Given the description of an element on the screen output the (x, y) to click on. 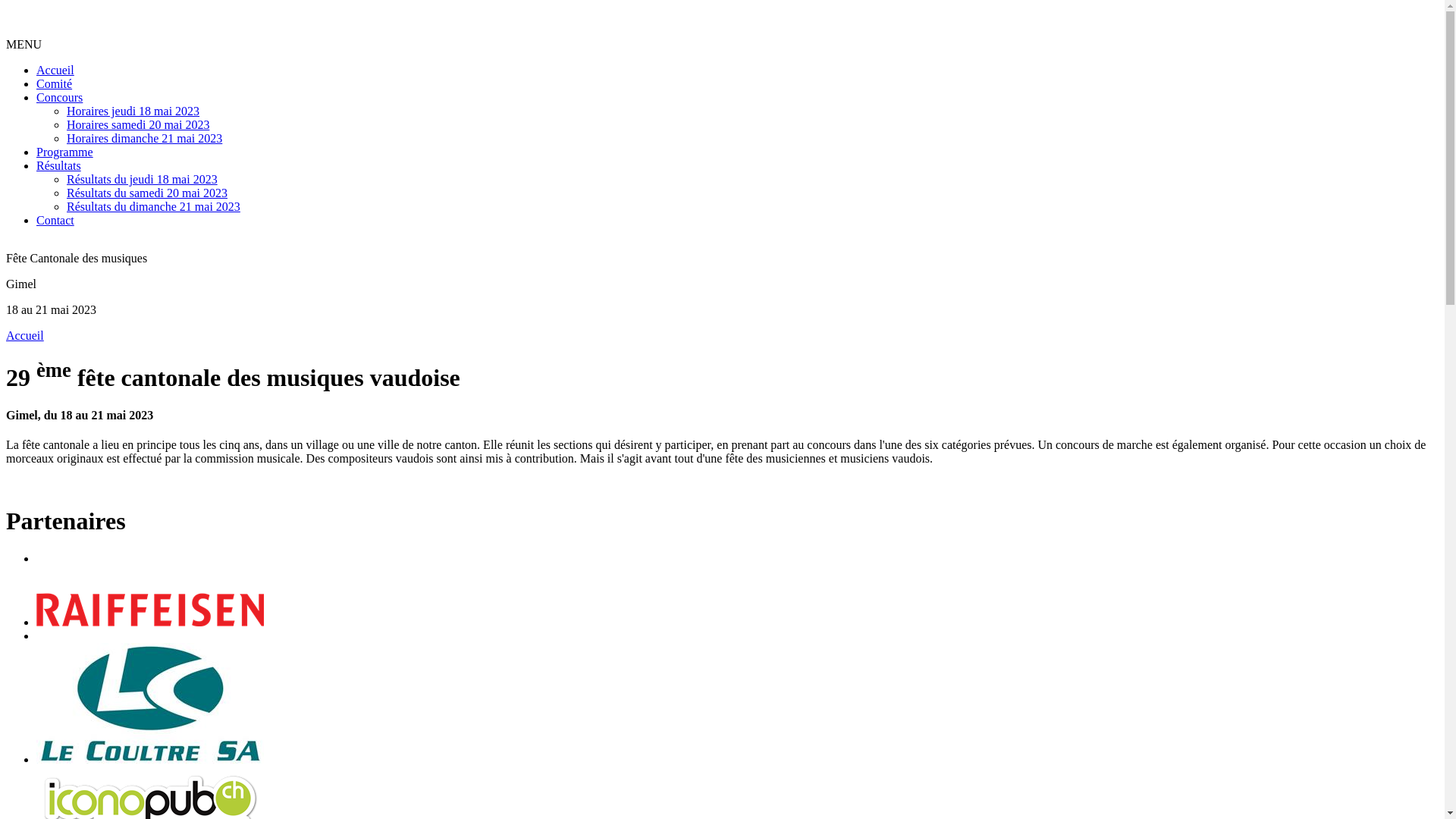
Concours Element type: text (59, 97)
0 Element type: text (737, 704)
Accueil Element type: text (55, 69)
Contact Element type: text (55, 219)
Programme Element type: text (64, 151)
0 Element type: text (737, 636)
Accueil Element type: text (24, 335)
Horaires dimanche 21 mai 2023 Element type: text (144, 137)
Horaires jeudi 18 mai 2023 Element type: text (132, 110)
0 Element type: text (737, 611)
Horaires samedi 20 mai 2023 Element type: text (137, 124)
